Given the description of an element on the screen output the (x, y) to click on. 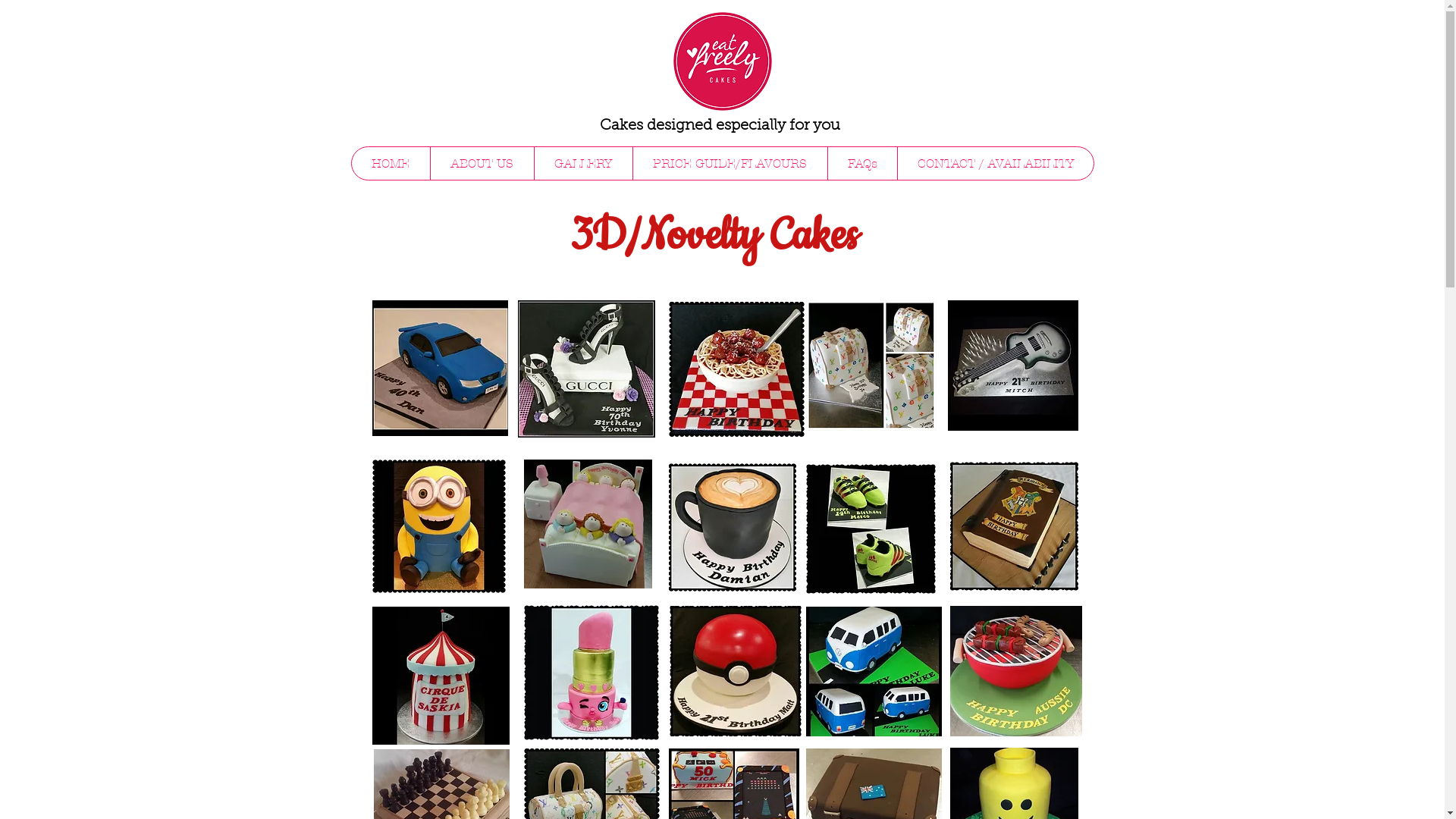
Novelty 002 Element type: hover (585, 368)
Novelty 012 Element type: hover (590, 672)
Novelty 005 Element type: hover (1012, 365)
Novelty 003 Element type: hover (736, 368)
Novelty 001 Element type: hover (439, 368)
Novelty 008 Element type: hover (732, 527)
Novelty 010 Element type: hover (1013, 525)
Novelty 006 Element type: hover (438, 526)
Novelty 011 Element type: hover (439, 675)
Novelty 014 Element type: hover (873, 671)
Novelty 009 Element type: hover (870, 528)
FAQs Element type: text (861, 163)
Novelty 013 Element type: hover (734, 670)
Novelty 007 Element type: hover (587, 523)
Eat Freely PNG logo 1.png Element type: hover (721, 61)
CONTACT / AVAILABILITY Element type: text (994, 163)
HOME Element type: text (390, 163)
Novelty 015 Element type: hover (1015, 670)
PRICE GUIDE/FLAVOURS Element type: text (729, 163)
ABOUT US Element type: text (481, 163)
Novelty 004 Element type: hover (870, 365)
